Given the description of an element on the screen output the (x, y) to click on. 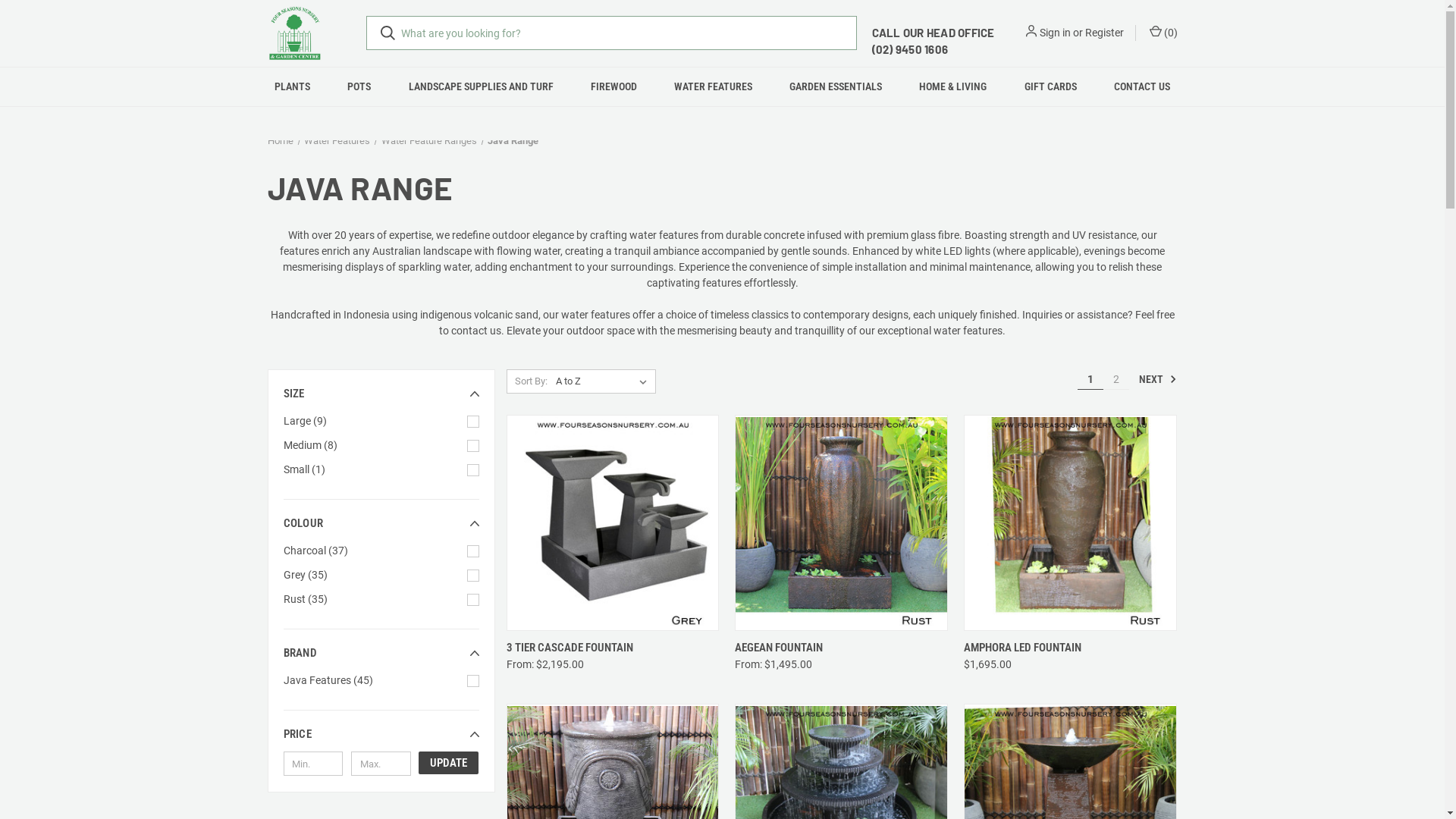
Medium (8) Element type: text (381, 445)
QUICK VIEW Element type: text (1015, 642)
POTS Element type: text (359, 86)
Grey (35) Element type: text (381, 574)
Java Features (45) Element type: text (381, 680)
LANDSCAPE SUPPLIES AND TURF Element type: text (480, 86)
NEXT Element type: text (1154, 379)
WATER FEATURES Element type: text (712, 86)
Rust (35) Element type: text (381, 599)
Amphora LED Fountain Element type: hover (1070, 522)
Home Element type: text (279, 140)
Java Range Element type: text (512, 140)
GARDEN ESSENTIALS Element type: text (835, 86)
Register Element type: text (1103, 32)
Large (9) Element type: text (381, 421)
Charcoal (37) Element type: text (381, 550)
CONTACT US Element type: text (1141, 86)
3 Tier Cascade Fountain Element type: hover (612, 522)
AEGEAN FOUNTAIN Element type: text (778, 647)
1 Element type: text (1090, 379)
GIFT CARDS Element type: text (1050, 86)
QUICK VIEW Element type: text (557, 642)
FIREWOOD Element type: text (613, 86)
HOME & LIVING Element type: text (952, 86)
Four Seasons Nursery Element type: hover (294, 32)
(0) Element type: text (1161, 32)
Small (1) Element type: text (381, 469)
2 Element type: text (1116, 379)
3 TIER CASCADE FOUNTAIN Element type: text (569, 647)
Water Features Element type: text (337, 140)
Water Feature Ranges Element type: text (428, 140)
Sign in Element type: text (1054, 32)
QUICK VIEW Element type: text (786, 642)
PLANTS Element type: text (292, 86)
CALL OUR HEAD OFFICE
(02) 9450 1606 Element type: text (933, 41)
Aegean Fountain Element type: hover (841, 522)
UPDATE Element type: text (448, 762)
AMPHORA LED FOUNTAIN Element type: text (1022, 647)
